Given the description of an element on the screen output the (x, y) to click on. 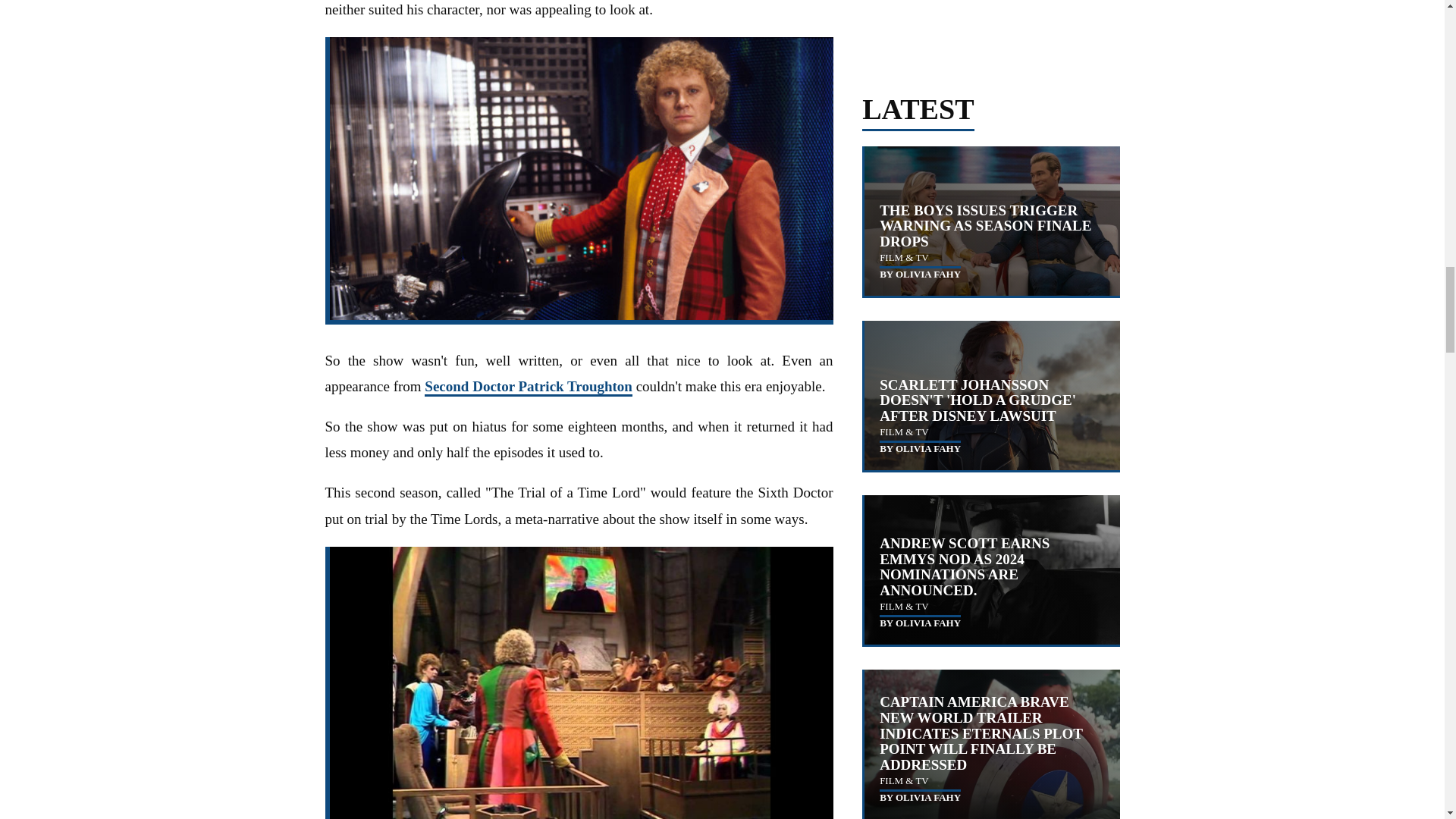
Second Doctor Patrick Troughton (528, 387)
